Given the description of an element on the screen output the (x, y) to click on. 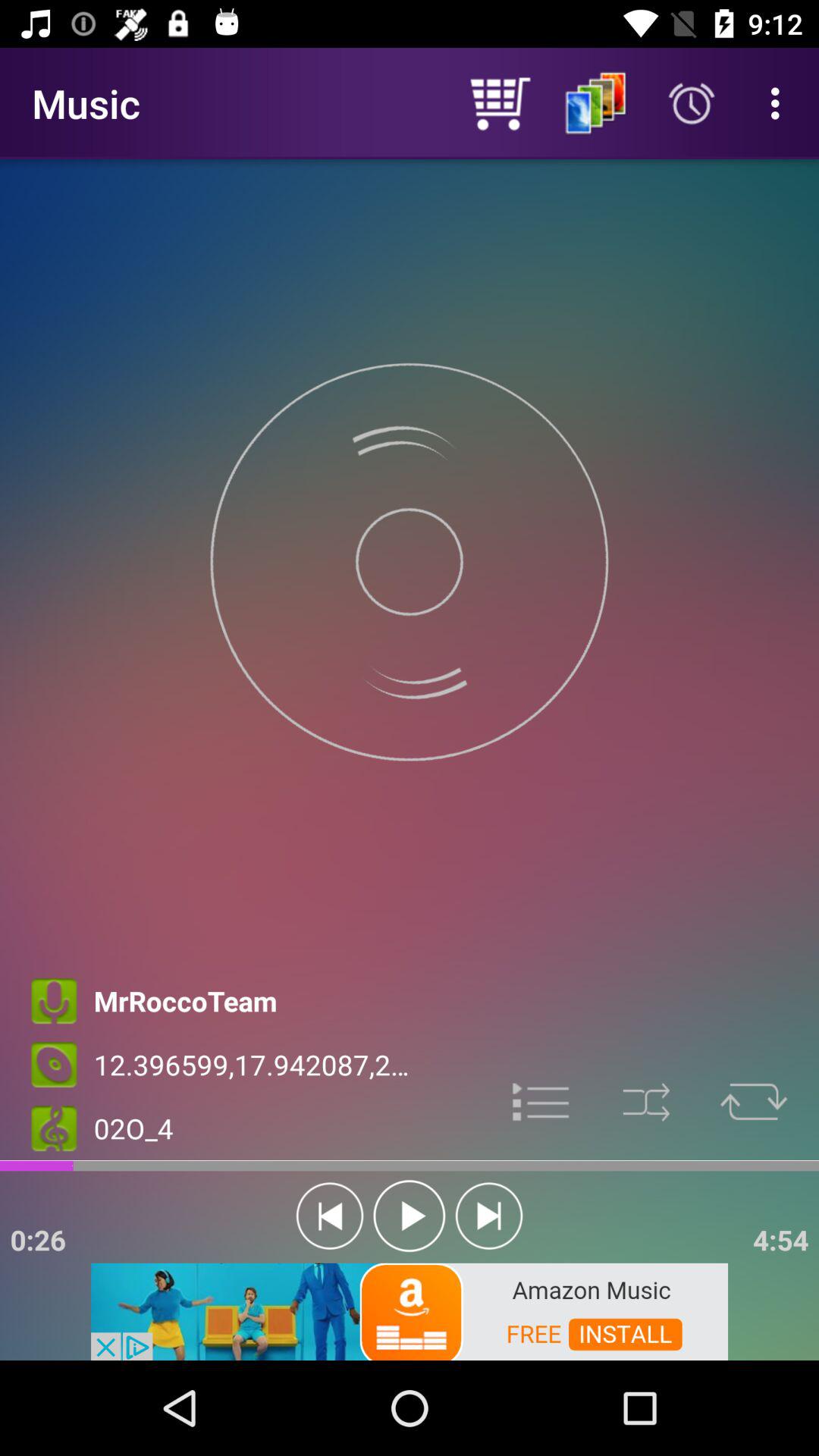
next song (488, 1215)
